Given the description of an element on the screen output the (x, y) to click on. 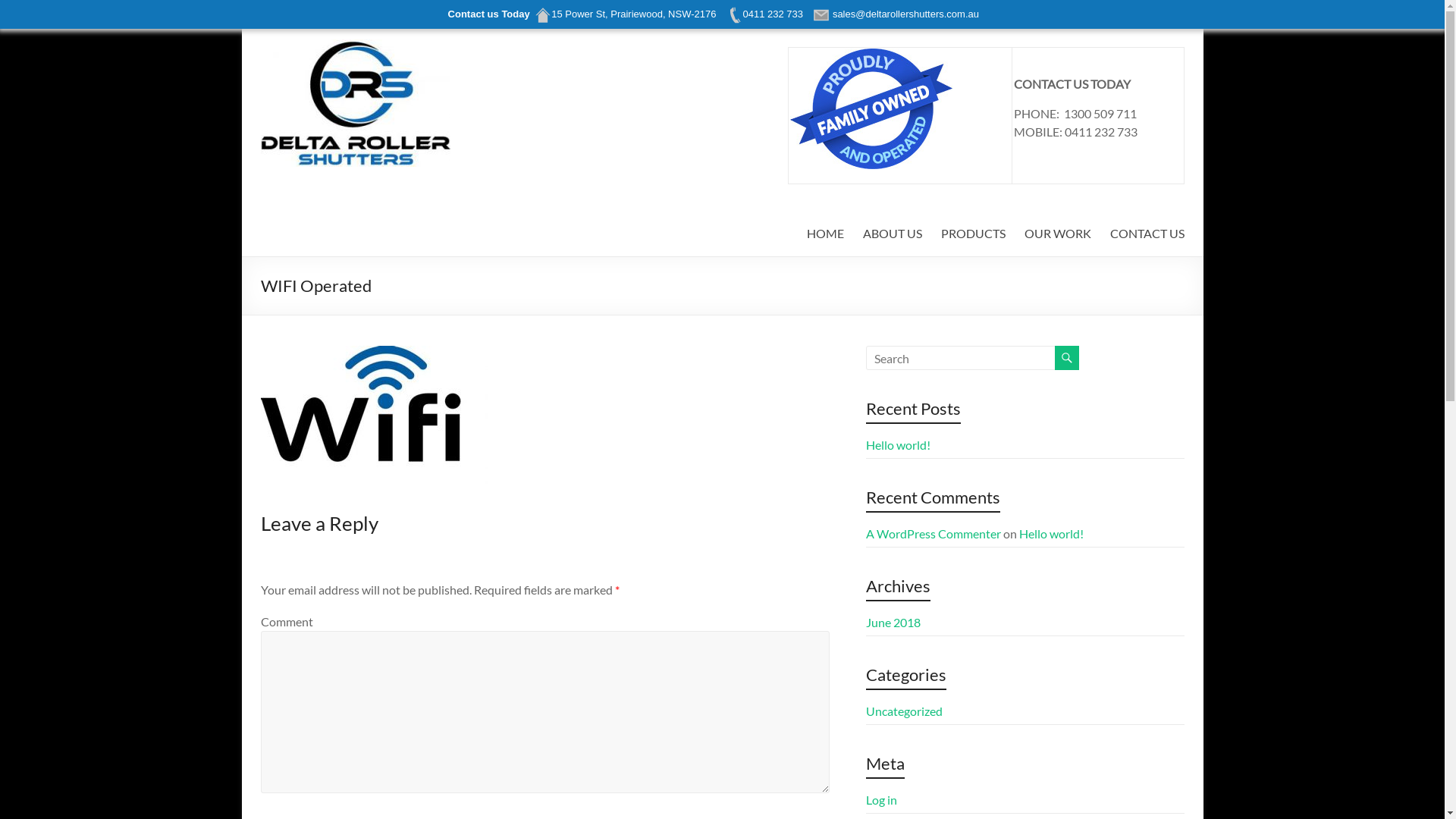
June 2018 Element type: text (893, 622)
A WordPress Commenter Element type: text (933, 533)
Skip to content Element type: text (241, 27)
HOME Element type: text (825, 233)
sales@deltarollershutters.com.au Element type: text (897, 13)
Uncategorized Element type: text (904, 710)
Hello world! Element type: text (1051, 533)
0411 232 733 Element type: text (764, 13)
Hello world! Element type: text (898, 444)
PRODUCTS Element type: text (972, 233)
ABOUT US Element type: text (892, 233)
DELTA ROLLER SHUTTERS Element type: text (326, 88)
OUR WORK Element type: text (1056, 233)
Log in Element type: text (881, 799)
CONTACT US Element type: text (1147, 233)
